Given the description of an element on the screen output the (x, y) to click on. 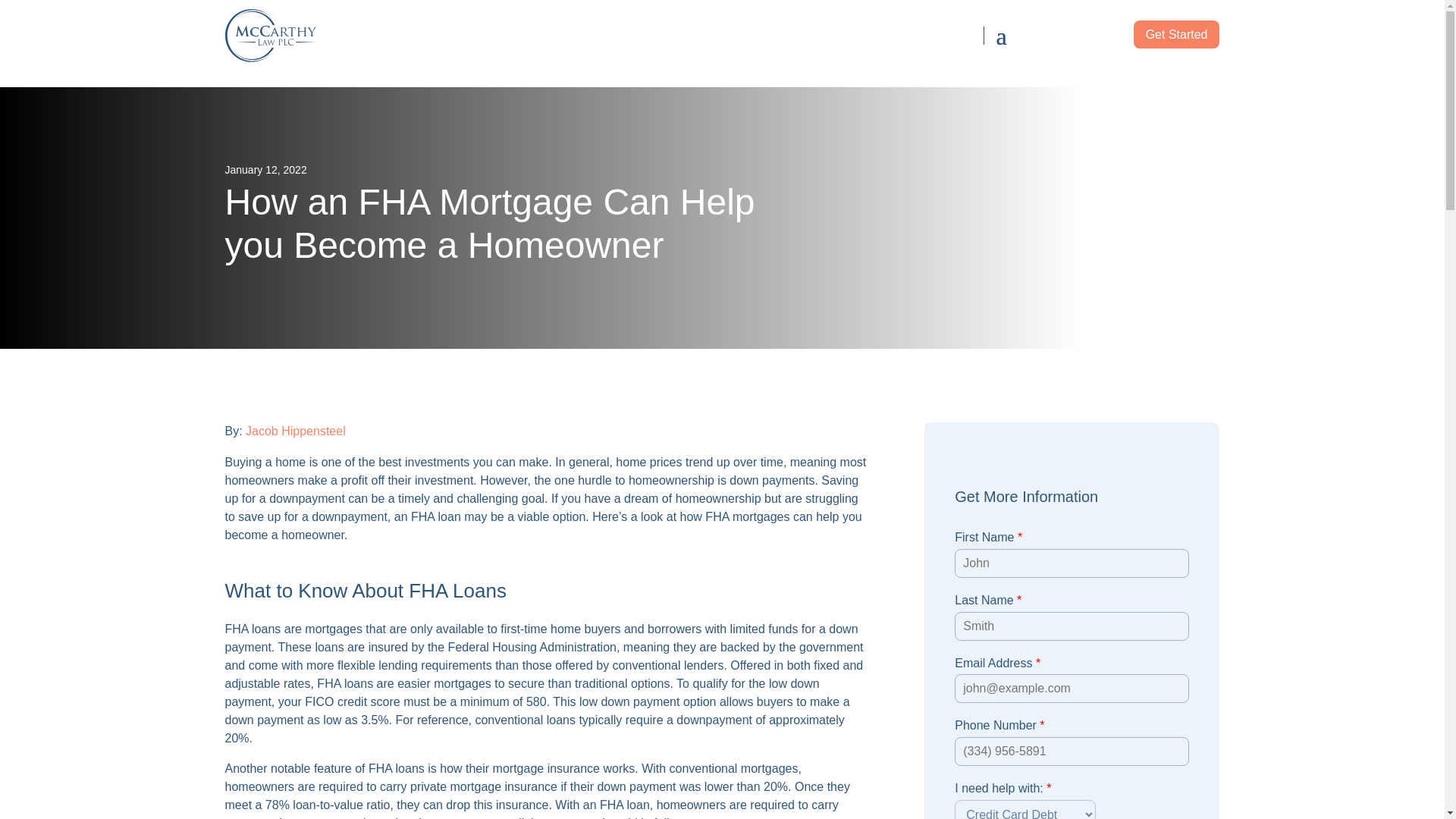
Home (328, 35)
Get Started (1177, 34)
Jacob Hippensteel (296, 431)
